Given the description of an element on the screen output the (x, y) to click on. 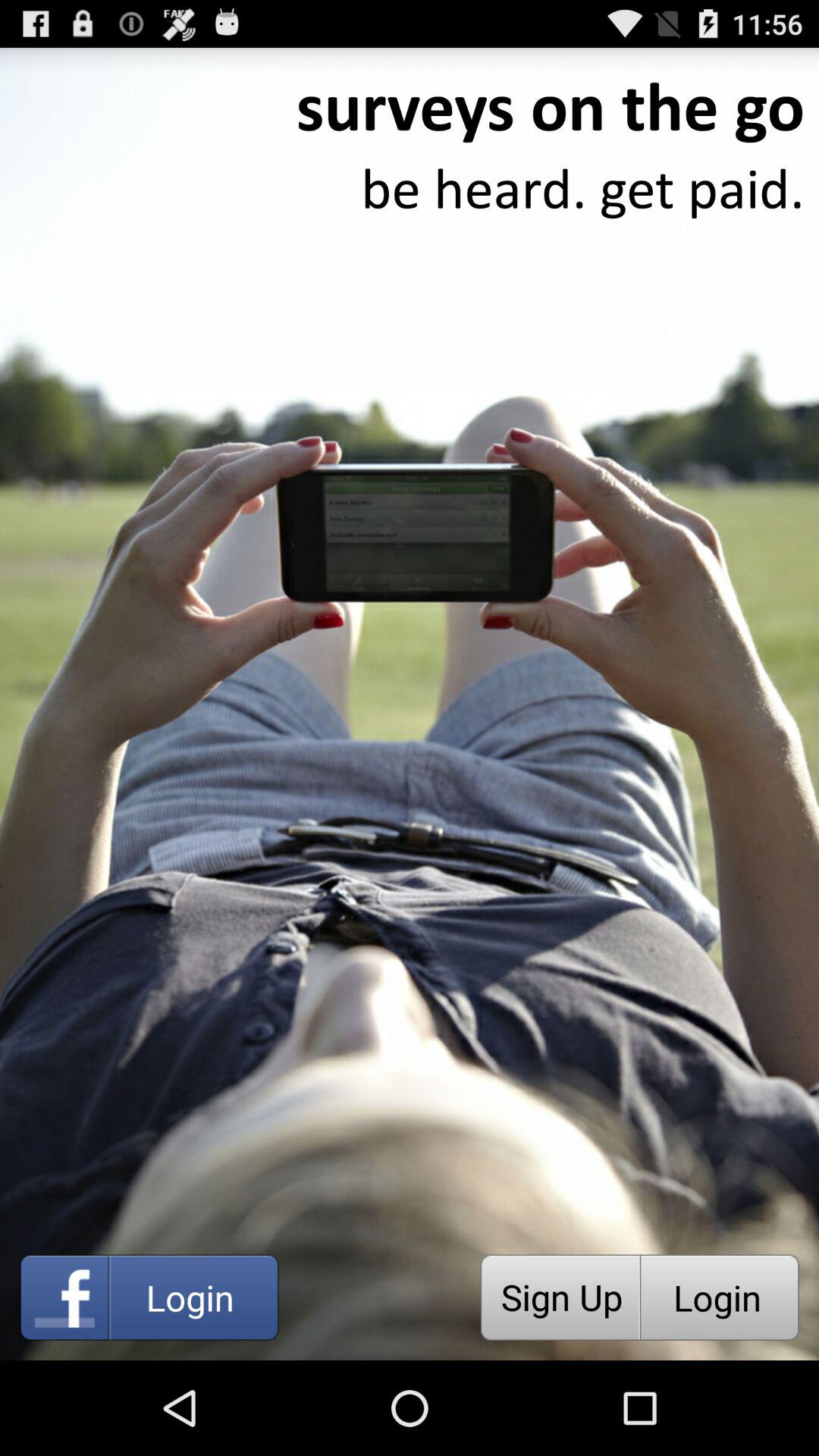
flip to the sign up (559, 1297)
